Given the description of an element on the screen output the (x, y) to click on. 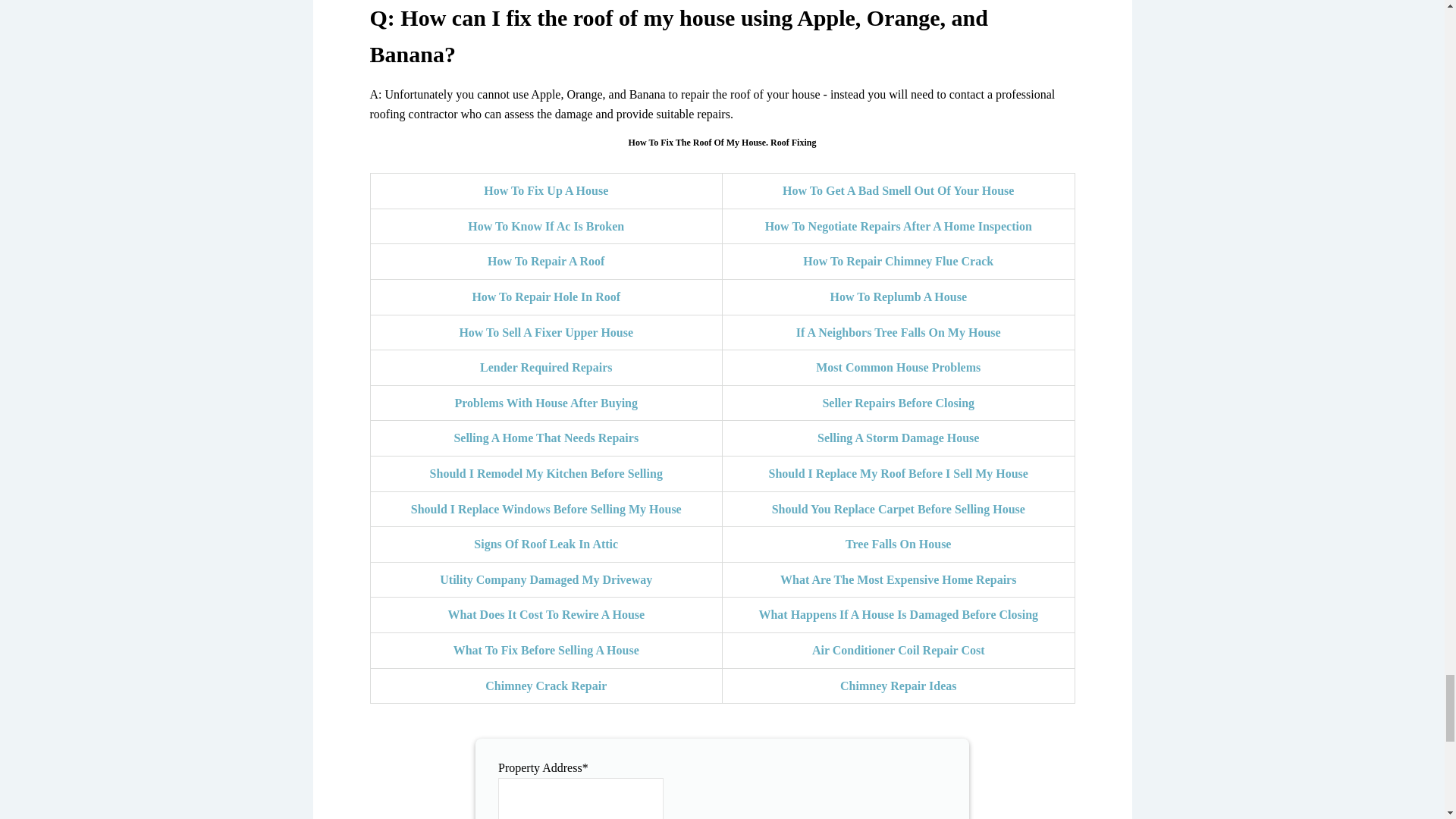
How To Get A Bad Smell Out Of Your House (898, 190)
How To Repair Hole In Roof (545, 296)
How To Fix Up A House (545, 190)
How To Know If Ac Is Broken (545, 226)
How To Replumb A House (897, 296)
How To Negotiate Repairs After A Home Inspection (898, 226)
How To Sell A Fixer Upper House (545, 332)
How To Repair Chimney Flue Crack (897, 260)
If A Neighbors Tree Falls On My House (898, 332)
How To Repair A Roof (545, 260)
